Given the description of an element on the screen output the (x, y) to click on. 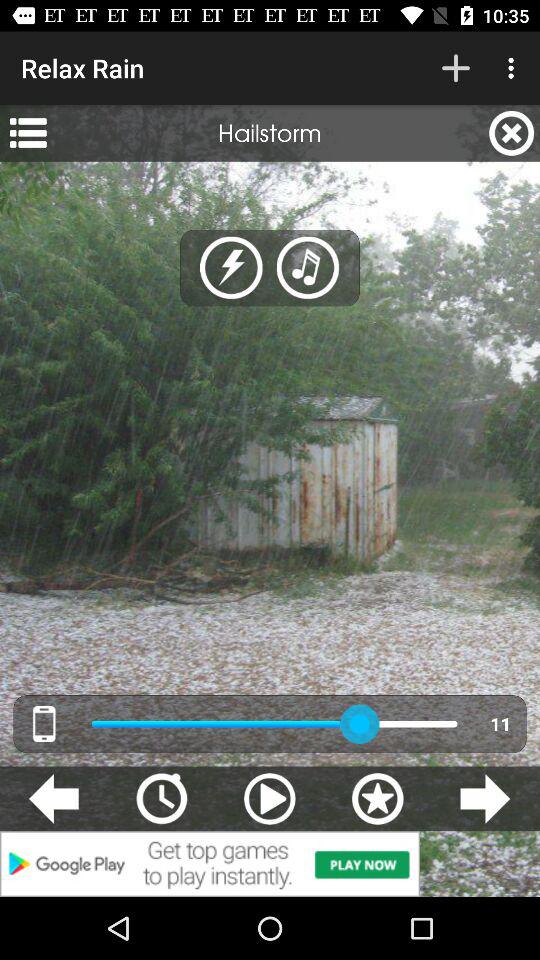
tap the item to the right of hailstorm app (511, 133)
